Given the description of an element on the screen output the (x, y) to click on. 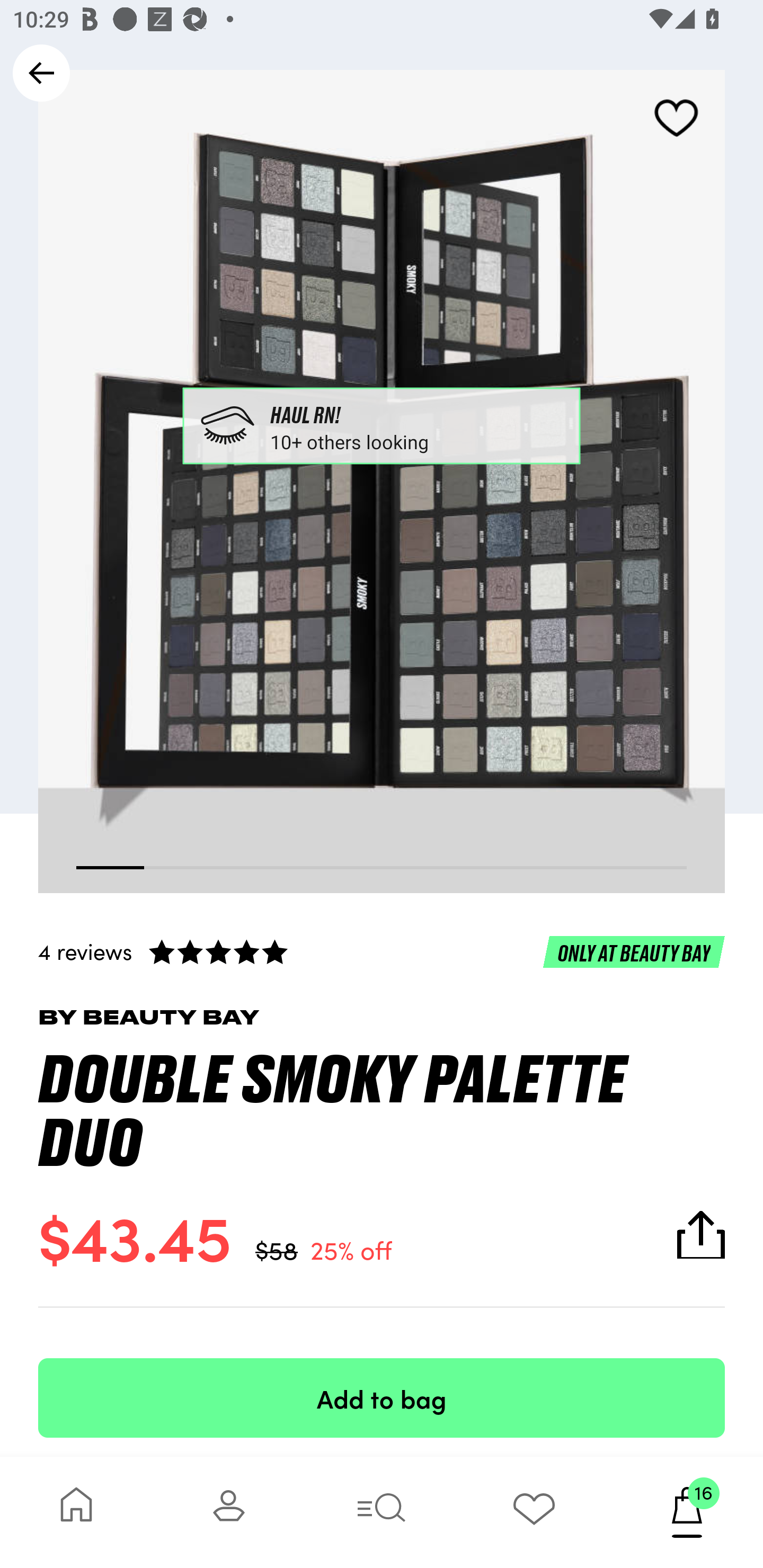
4 reviews (381, 950)
Add to bag (381, 1397)
16 (686, 1512)
